Given the description of an element on the screen output the (x, y) to click on. 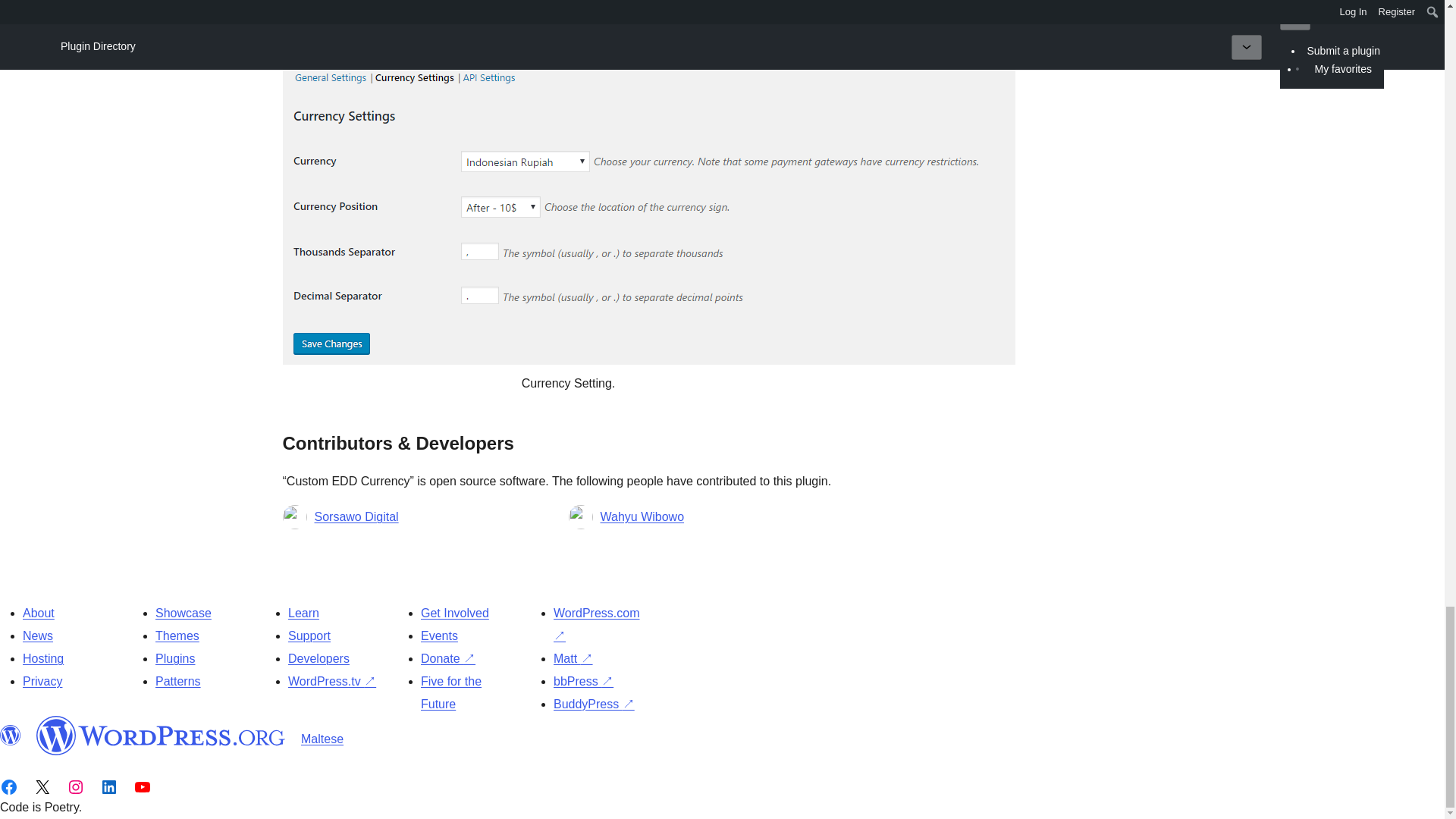
WordPress.org (160, 735)
Sorsawo Digital (355, 517)
WordPress.org (10, 735)
Wahyu Wibowo (641, 517)
